Given the description of an element on the screen output the (x, y) to click on. 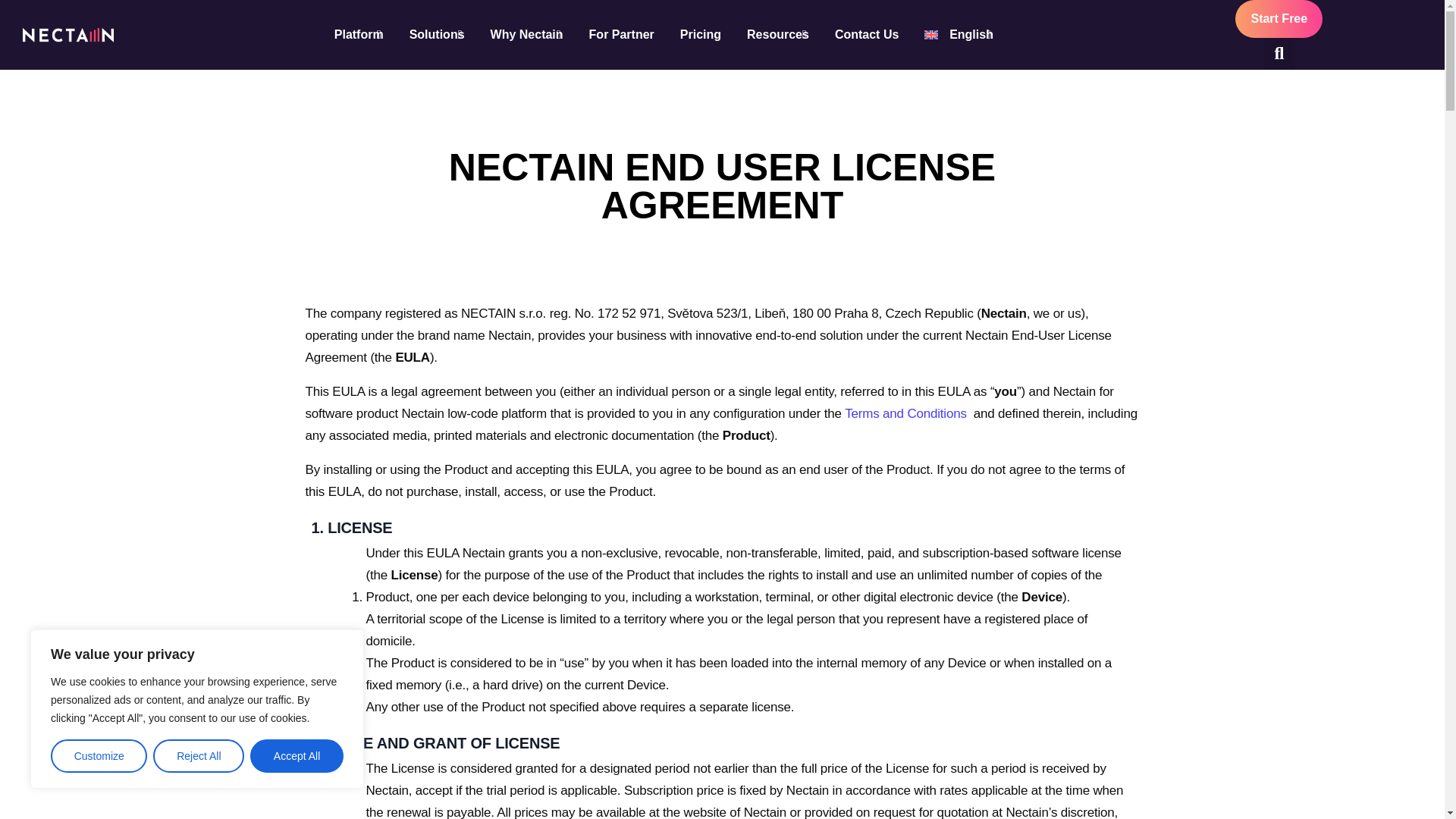
Customize (98, 756)
Platform (358, 34)
Solutions (436, 34)
Reject All (198, 756)
Accept All (296, 756)
English (958, 34)
